Given the description of an element on the screen output the (x, y) to click on. 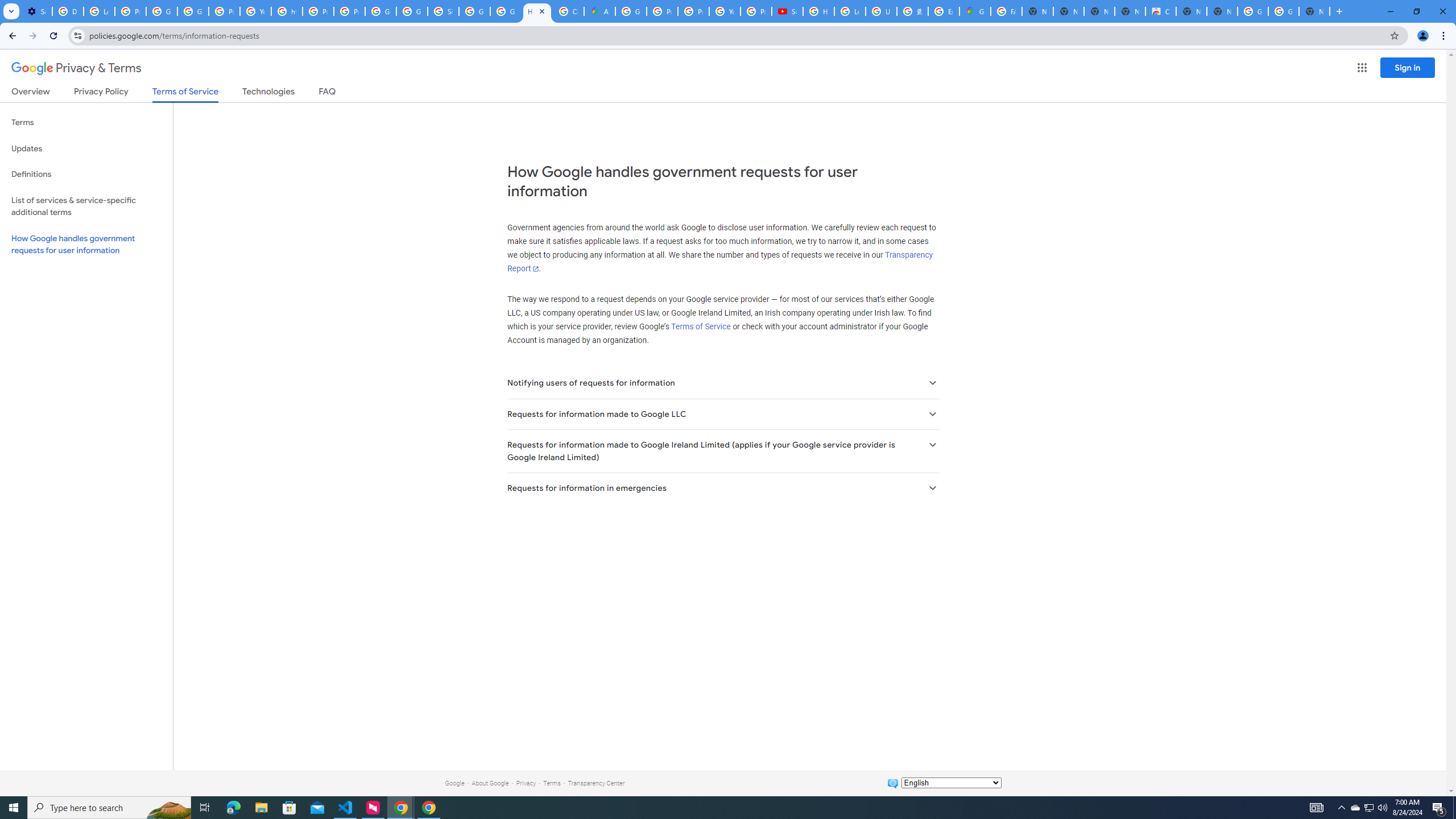
Google Images (1252, 11)
https://scholar.google.com/ (286, 11)
Transparency Report (719, 262)
YouTube (724, 11)
Updates (86, 148)
